Given the description of an element on the screen output the (x, y) to click on. 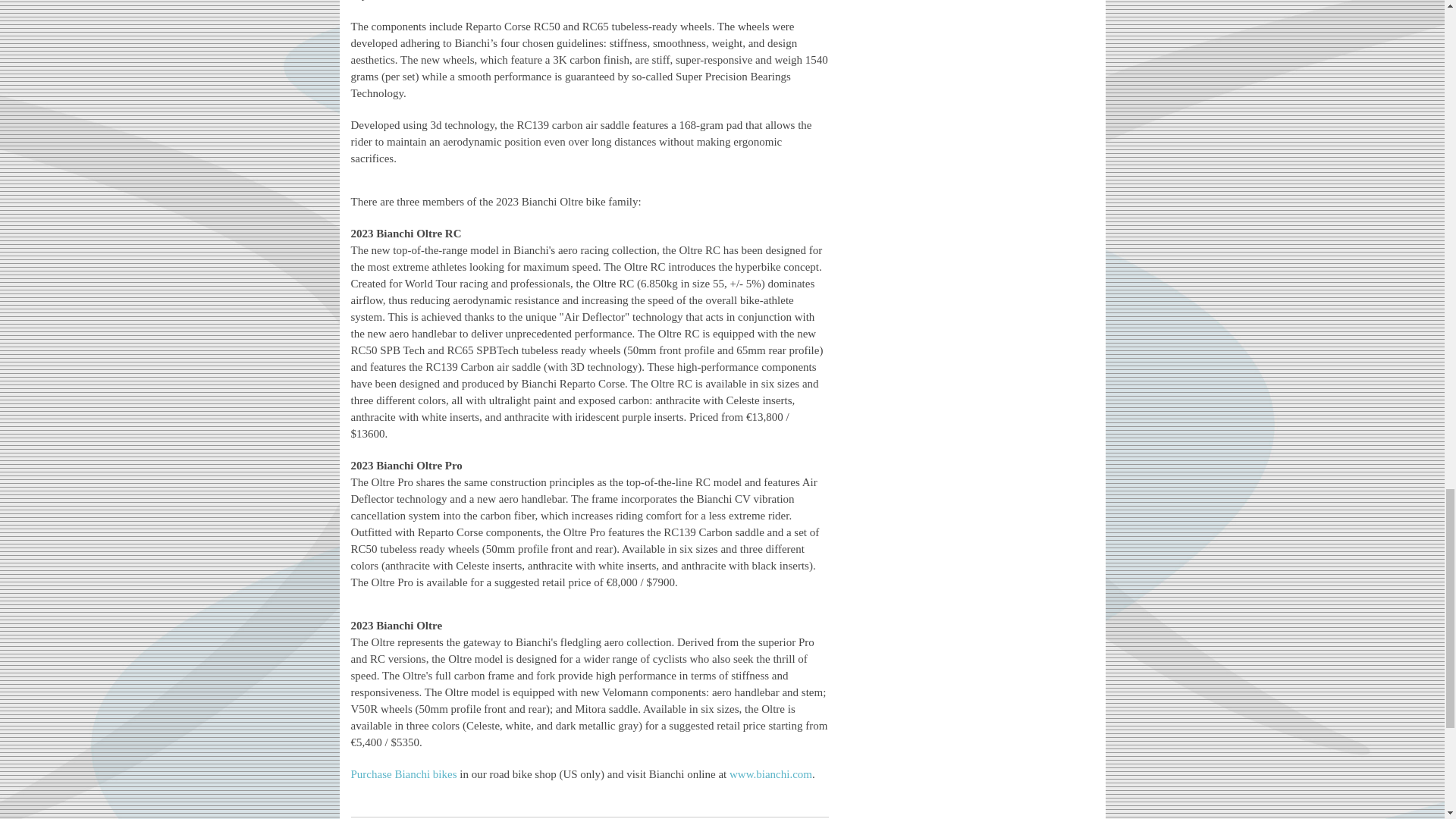
www.bianchi.com (770, 774)
Purchase Bianchi bikes (403, 774)
